Given the description of an element on the screen output the (x, y) to click on. 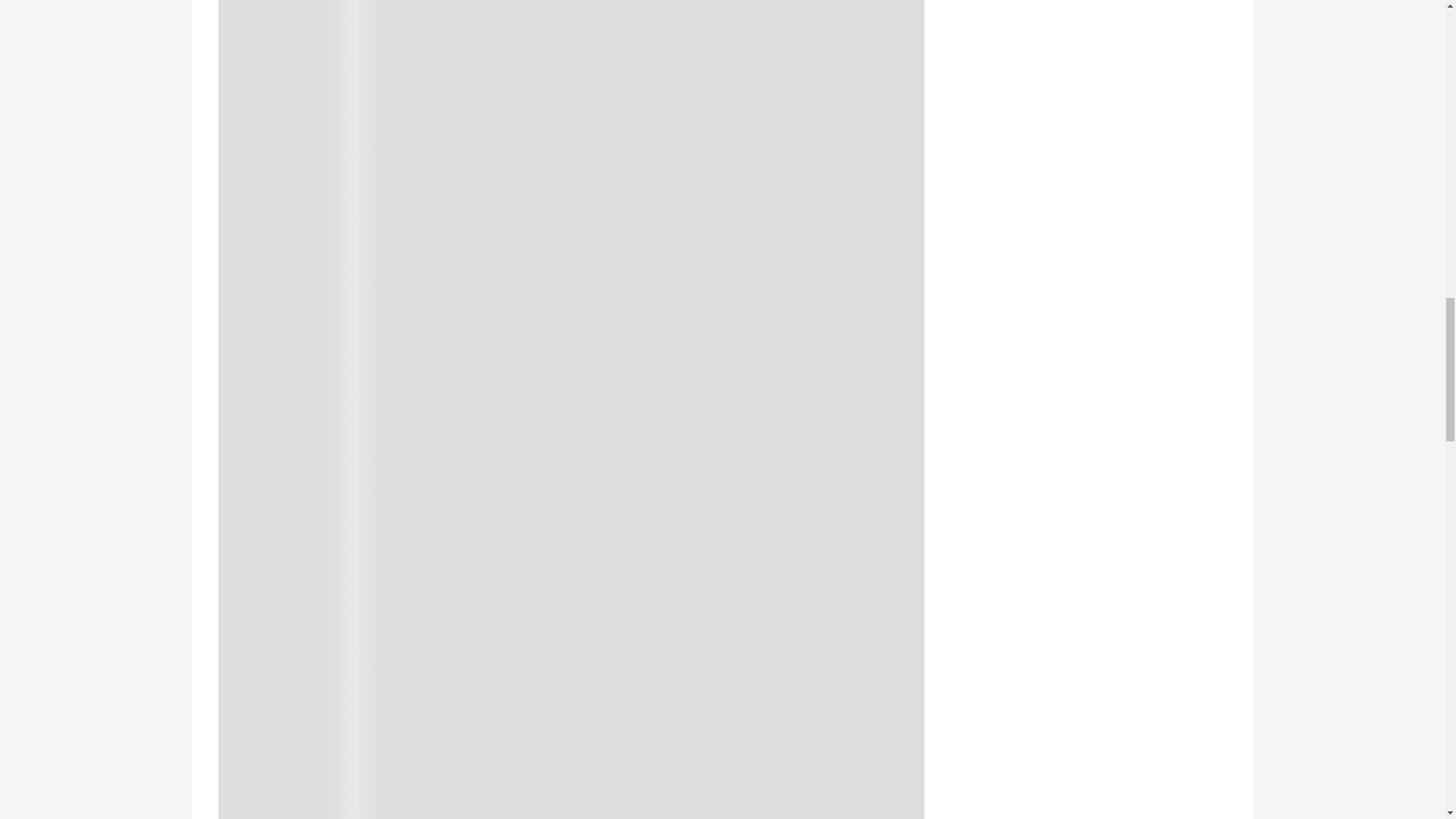
Prev Post (400, 710)
Peugeot 5008 (615, 639)
Peugeot (510, 639)
Next Post (741, 710)
